Given the description of an element on the screen output the (x, y) to click on. 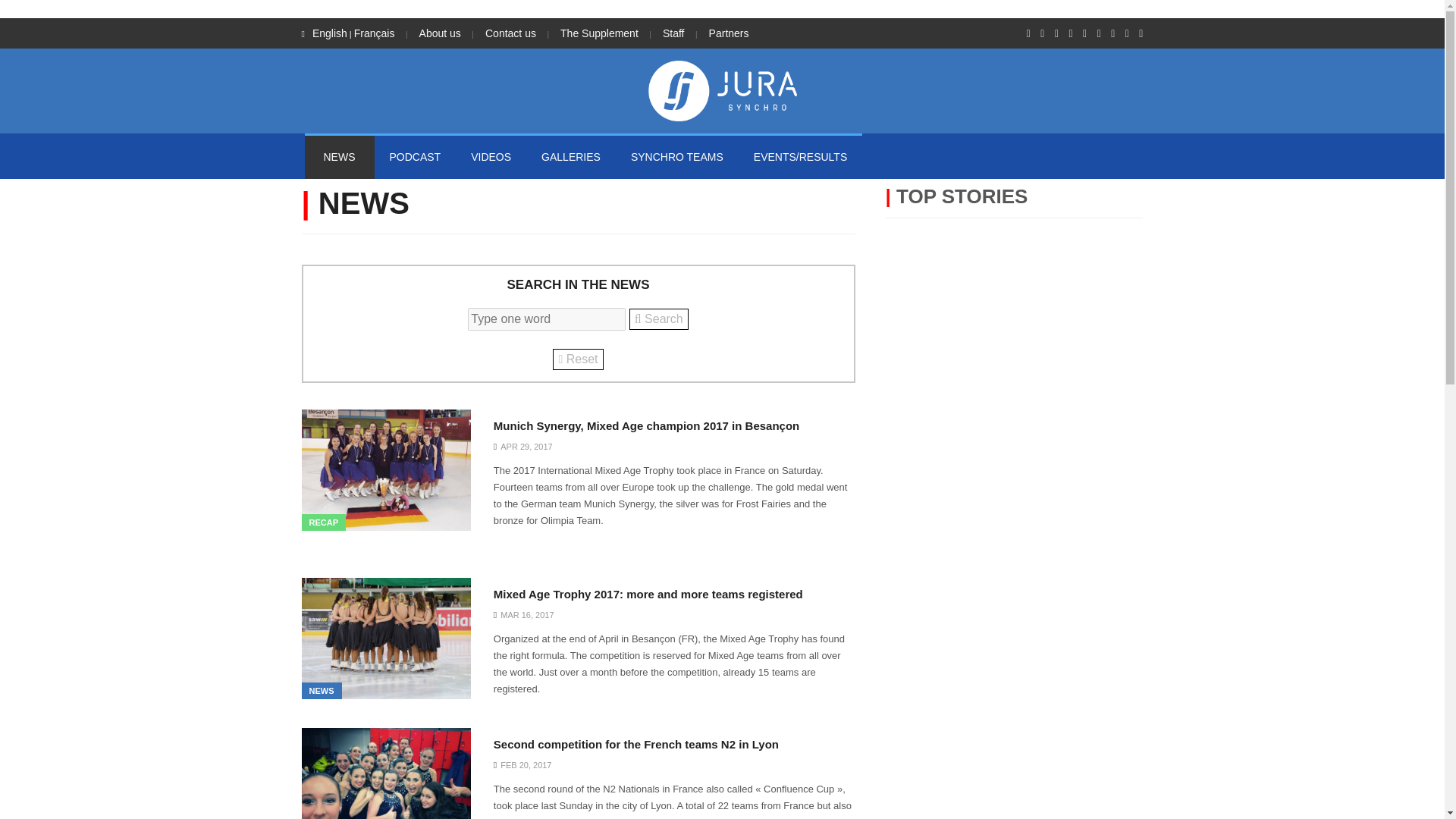
RECAP (323, 522)
Second competition for the French teams N2 in Lyon (635, 744)
Contact us (509, 33)
VIDEOS (490, 156)
 Search (658, 319)
NEWS (321, 690)
GALLERIES (570, 156)
Partners (729, 33)
NEWS (339, 156)
Mixed Age Trophy 2017: more and more teams registered (648, 594)
 Reset (577, 359)
SYNCHRO TEAMS (676, 156)
PODCAST (415, 156)
Staff (673, 33)
English (330, 33)
